Given the description of an element on the screen output the (x, y) to click on. 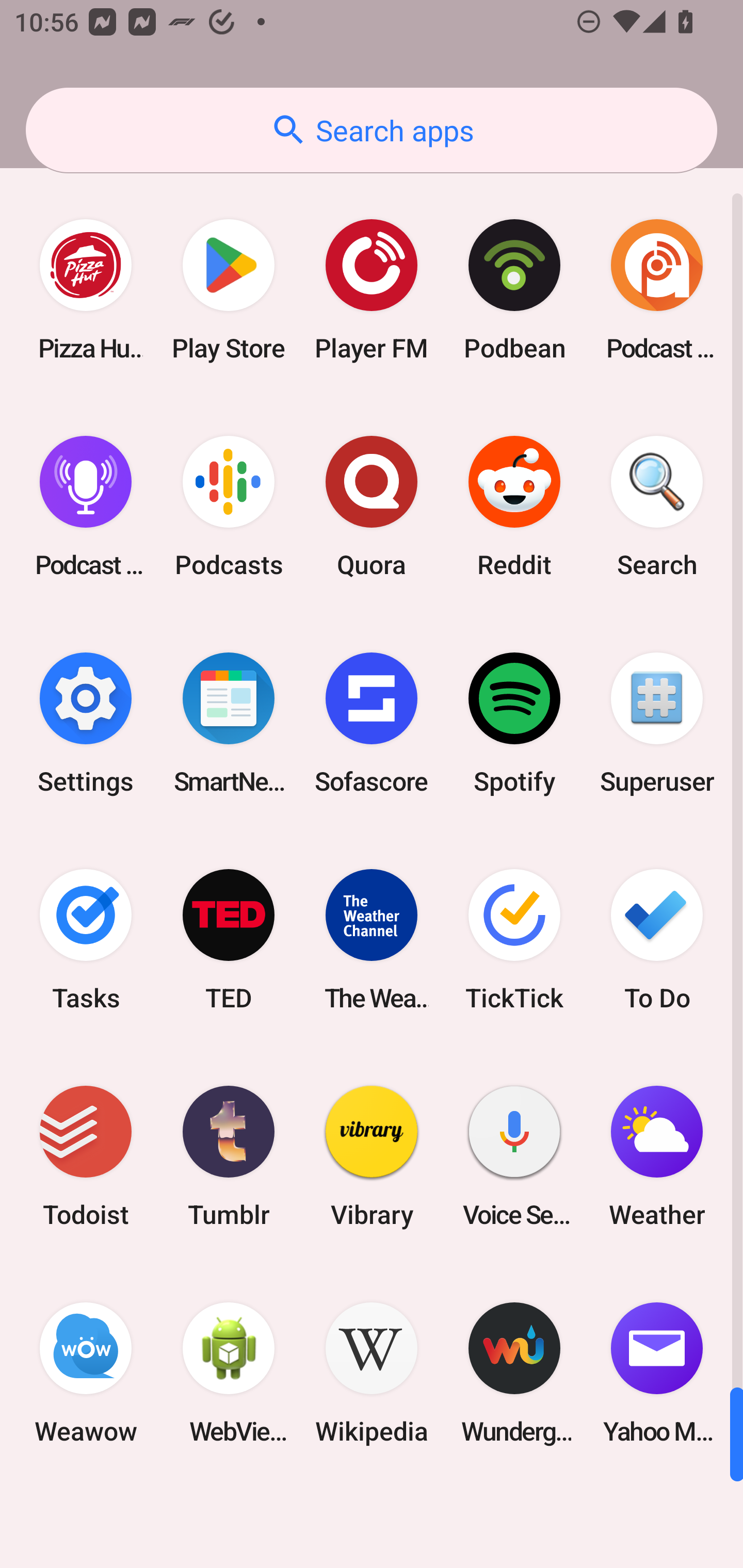
  Search apps (371, 130)
Pizza Hut HK & Macau (85, 289)
Play Store (228, 289)
Player FM (371, 289)
Podbean (514, 289)
Podcast Addict (656, 289)
Podcast Player (85, 506)
Podcasts (228, 506)
Quora (371, 506)
Reddit (514, 506)
Search (656, 506)
Settings (85, 722)
SmartNews (228, 722)
Sofascore (371, 722)
Spotify (514, 722)
Superuser (656, 722)
Tasks (85, 939)
TED (228, 939)
The Weather Channel (371, 939)
TickTick (514, 939)
To Do (656, 939)
Todoist (85, 1156)
Tumblr (228, 1156)
Vibrary (371, 1156)
Voice Search (514, 1156)
Weather (656, 1156)
Weawow (85, 1373)
WebView Browser Tester (228, 1373)
Wikipedia (371, 1373)
Wunderground (514, 1373)
Yahoo Mail (656, 1373)
